Given the description of an element on the screen output the (x, y) to click on. 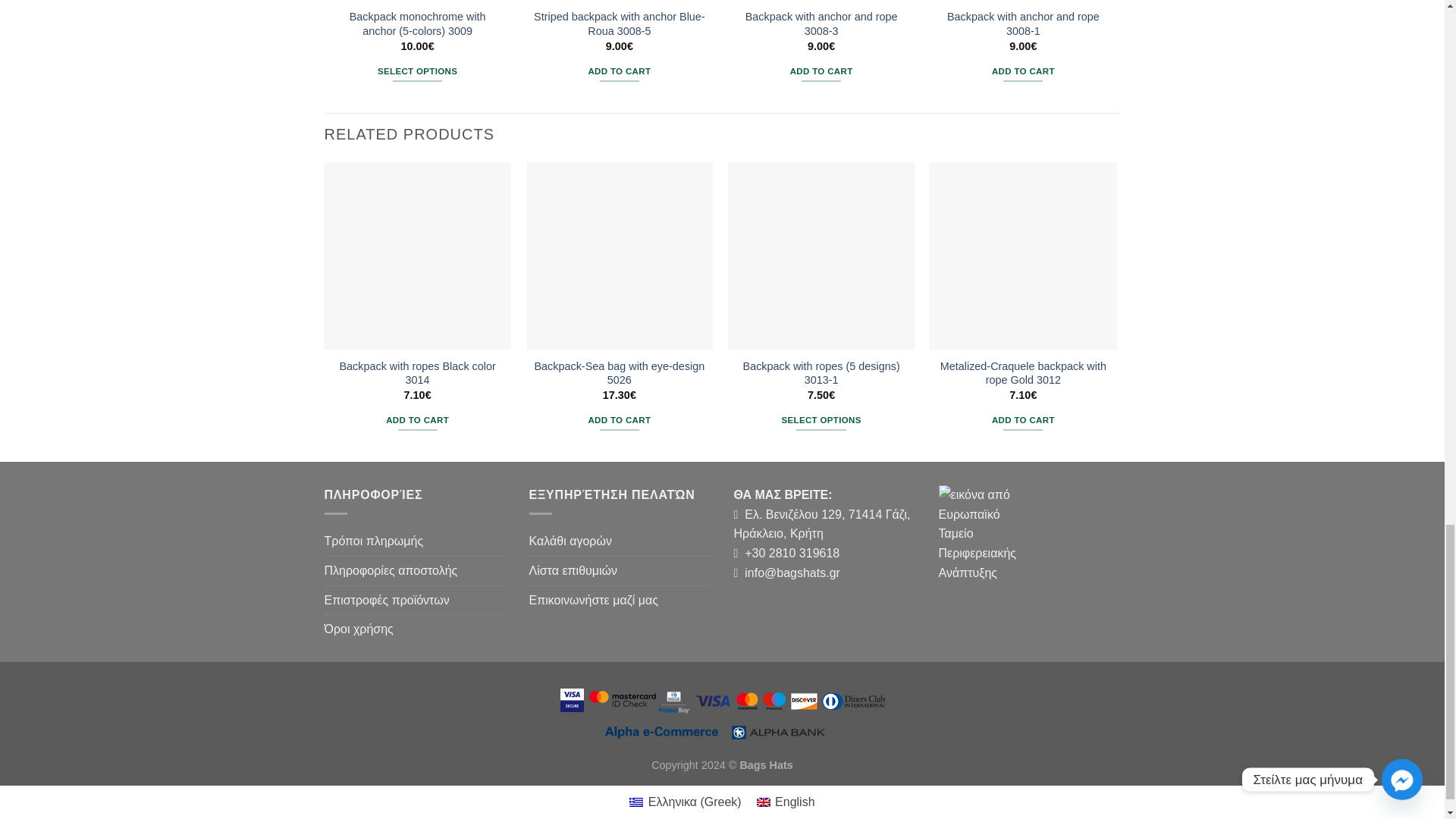
Photo (987, 532)
alpha e-commerce banner (721, 712)
photo (721, 711)
